Given the description of an element on the screen output the (x, y) to click on. 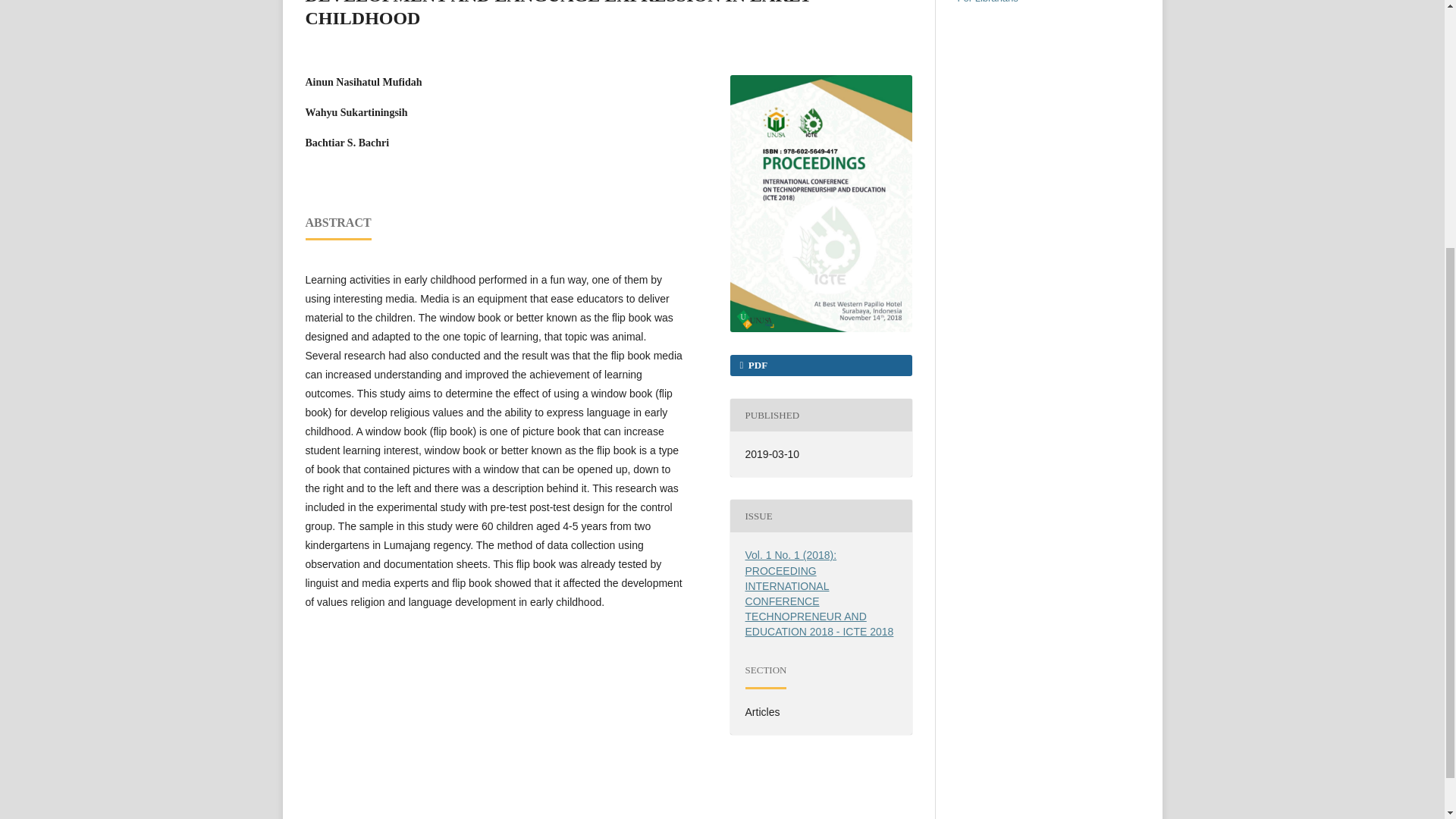
PDF (820, 364)
For Librarians (986, 2)
